Given the description of an element on the screen output the (x, y) to click on. 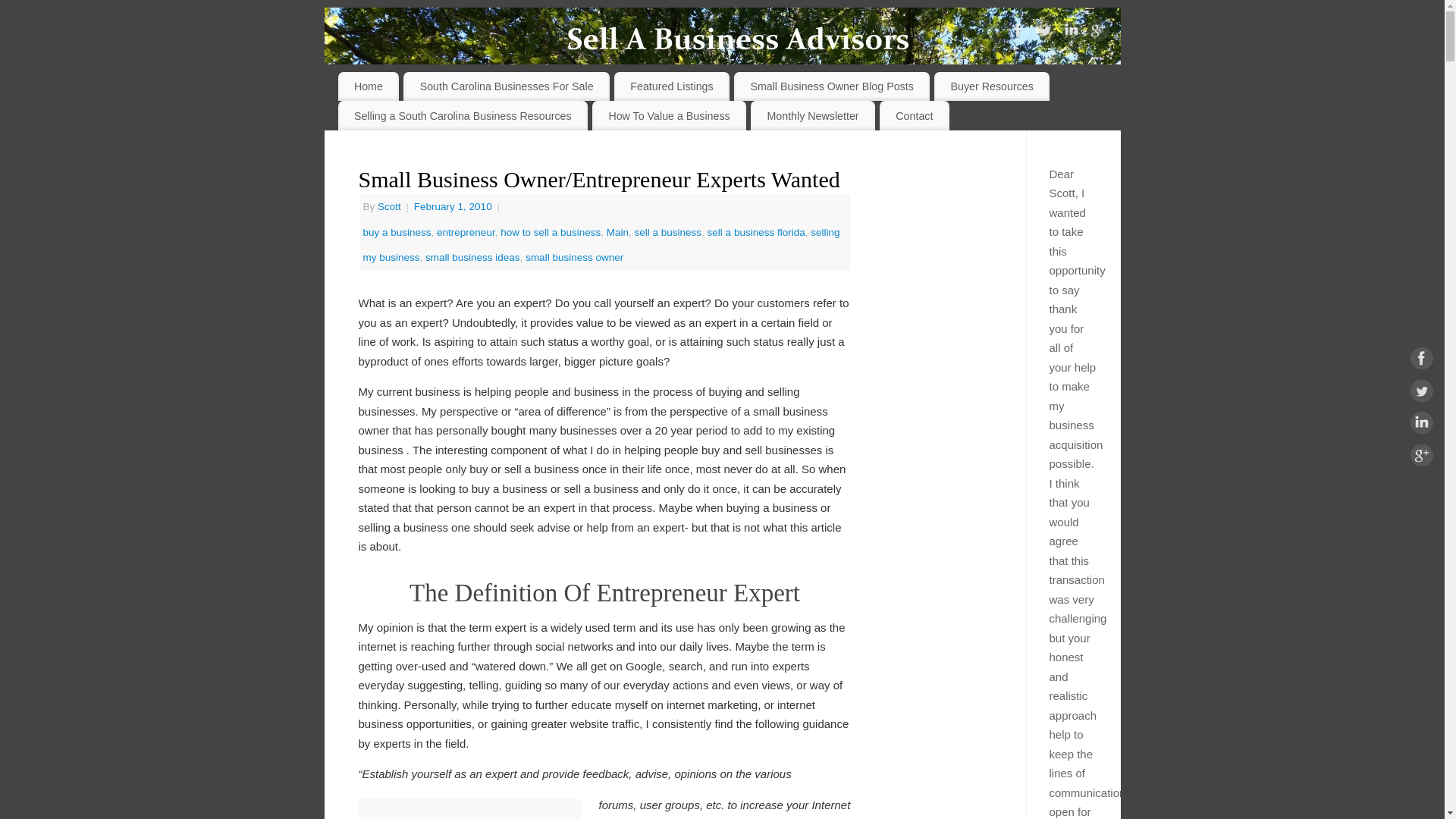
Contact (914, 114)
Buyer Resources (991, 86)
Main (617, 232)
buy a business (396, 232)
selling my business (601, 244)
sell a business (667, 232)
Home (367, 86)
February 1, 2010 (454, 206)
small business ideas (472, 256)
small business owner (574, 256)
